Given the description of an element on the screen output the (x, y) to click on. 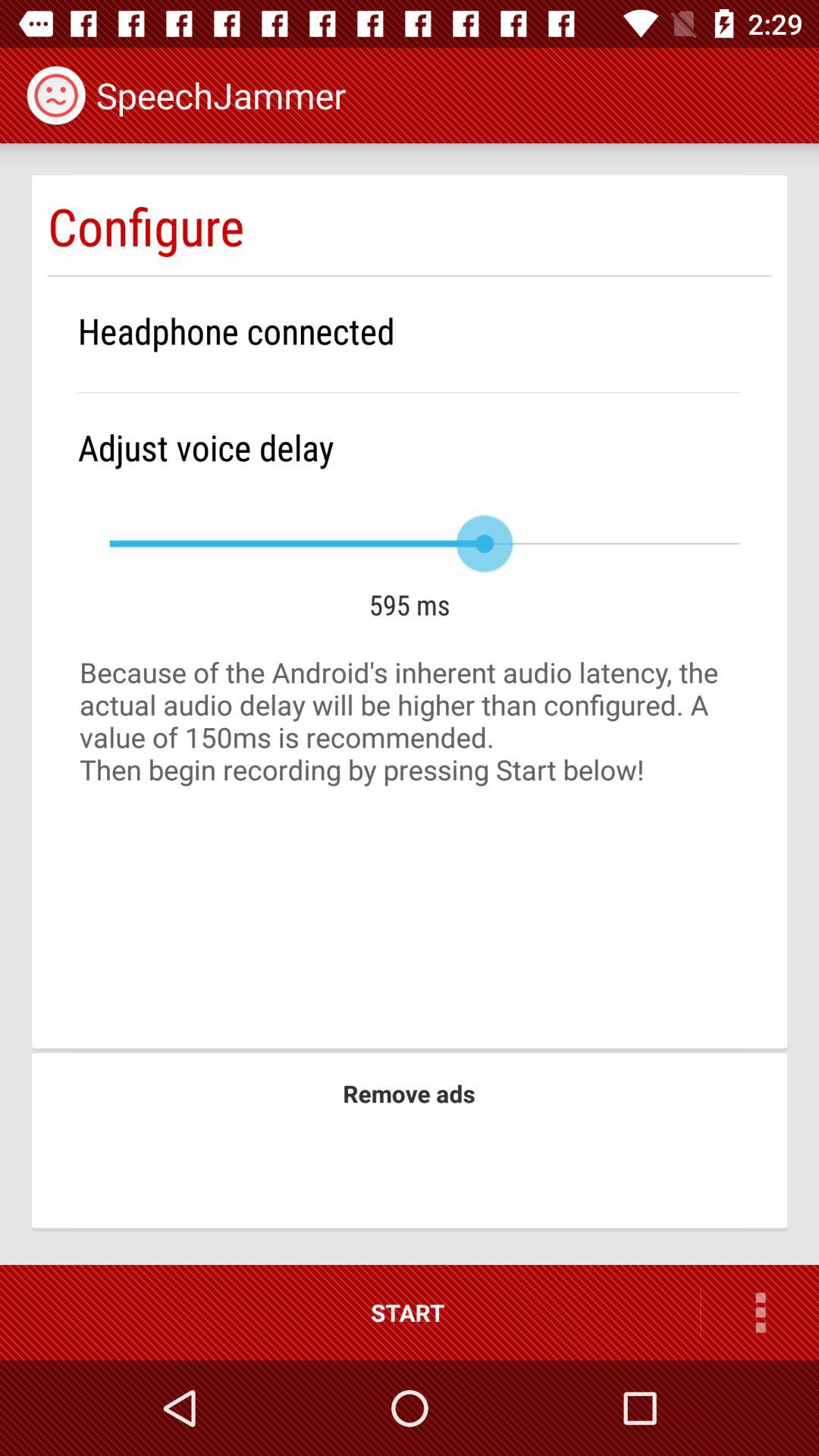
scroll to the start icon (349, 1312)
